Given the description of an element on the screen output the (x, y) to click on. 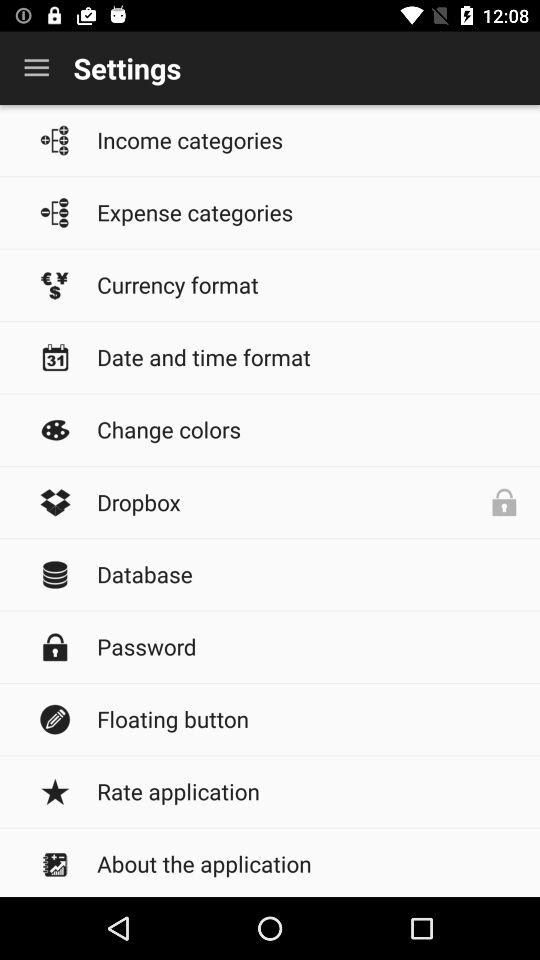
choose the icon to the left of settings icon (36, 68)
